Given the description of an element on the screen output the (x, y) to click on. 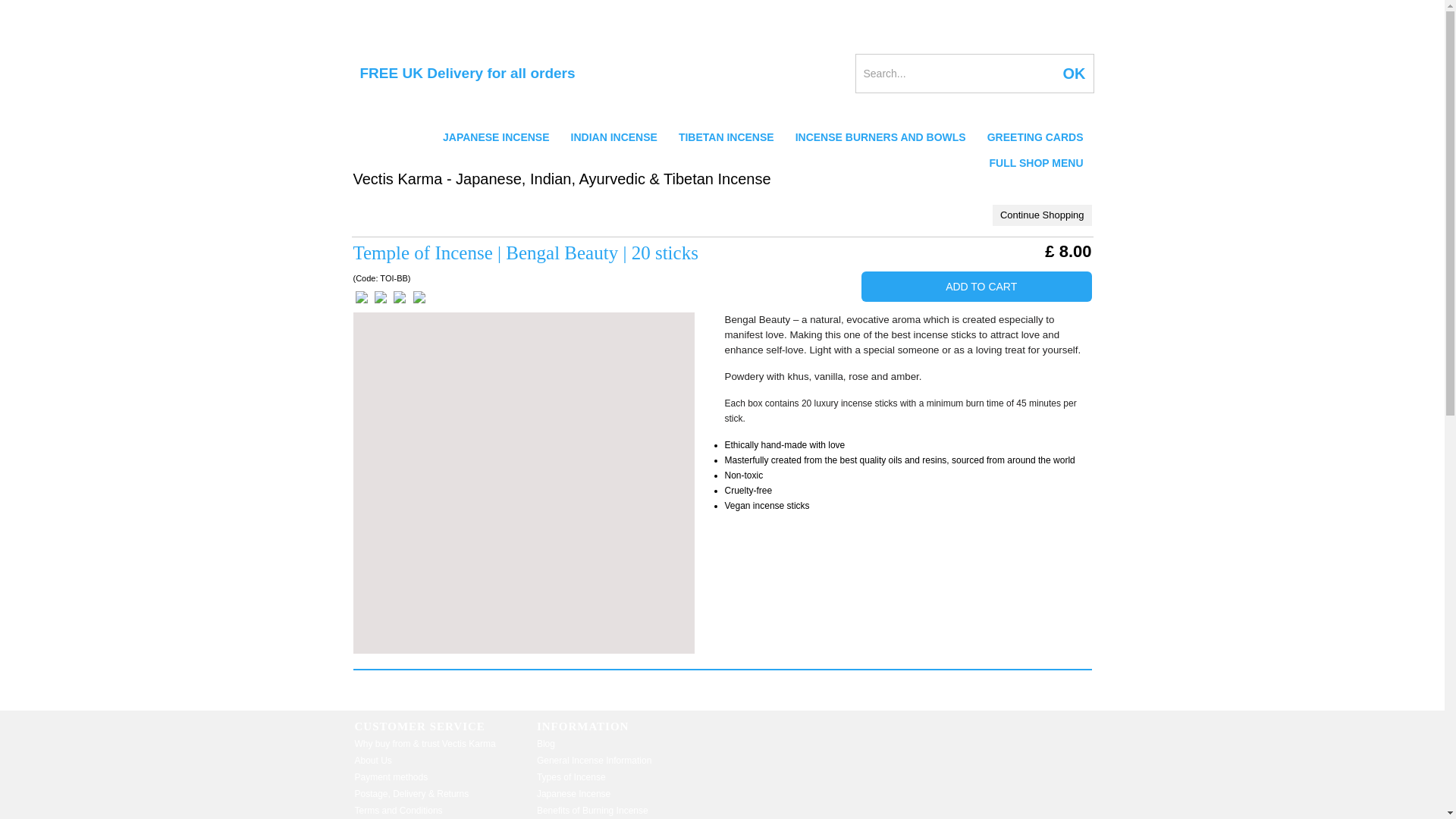
Blog (602, 11)
Contact Us (927, 11)
Incense Information (393, 11)
FULL SHOP MENU (1036, 162)
Search... (955, 73)
Account (986, 11)
Continue Shopping (1042, 215)
INDIAN INCENSE (614, 136)
Search... (955, 73)
INCENSE BURNERS AND BOWLS (880, 136)
